Given the description of an element on the screen output the (x, y) to click on. 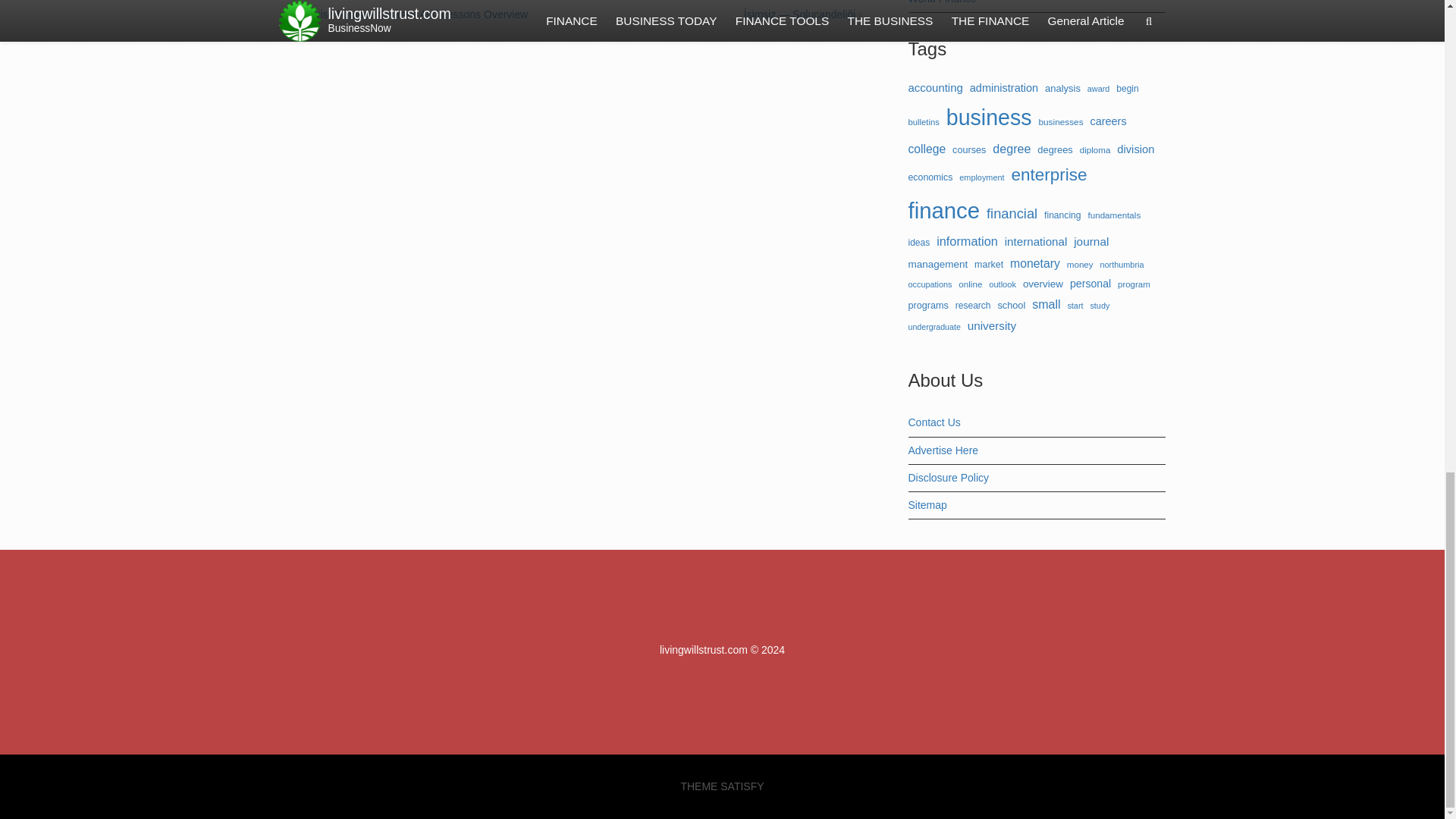
Enterprise Finance Courses And Lessons Overview (406, 14)
